Given the description of an element on the screen output the (x, y) to click on. 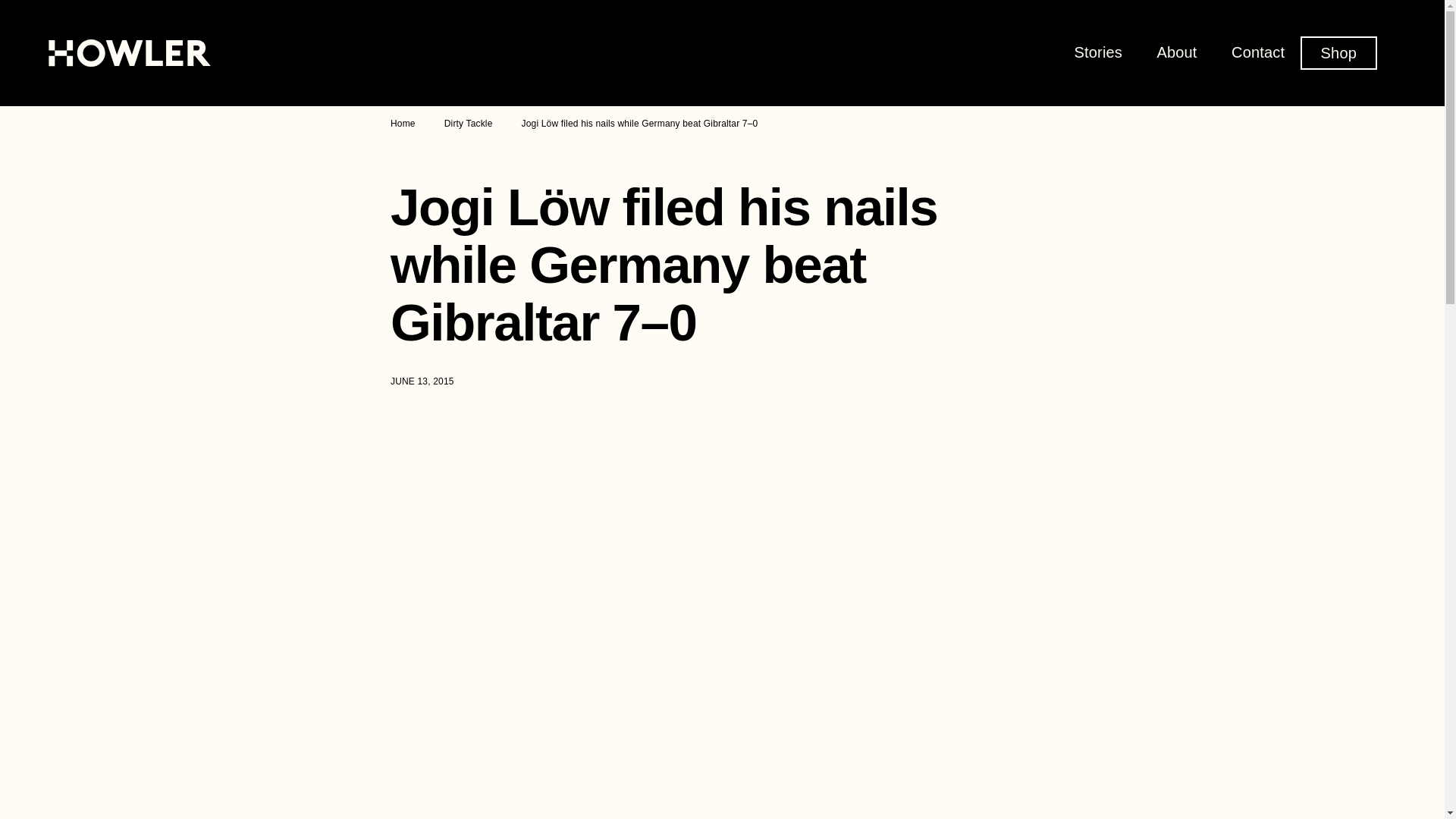
Dirty Tackle (468, 122)
About (1176, 52)
Stories (1098, 52)
Contact (1257, 52)
Home (402, 122)
Shop (1338, 51)
